Given the description of an element on the screen output the (x, y) to click on. 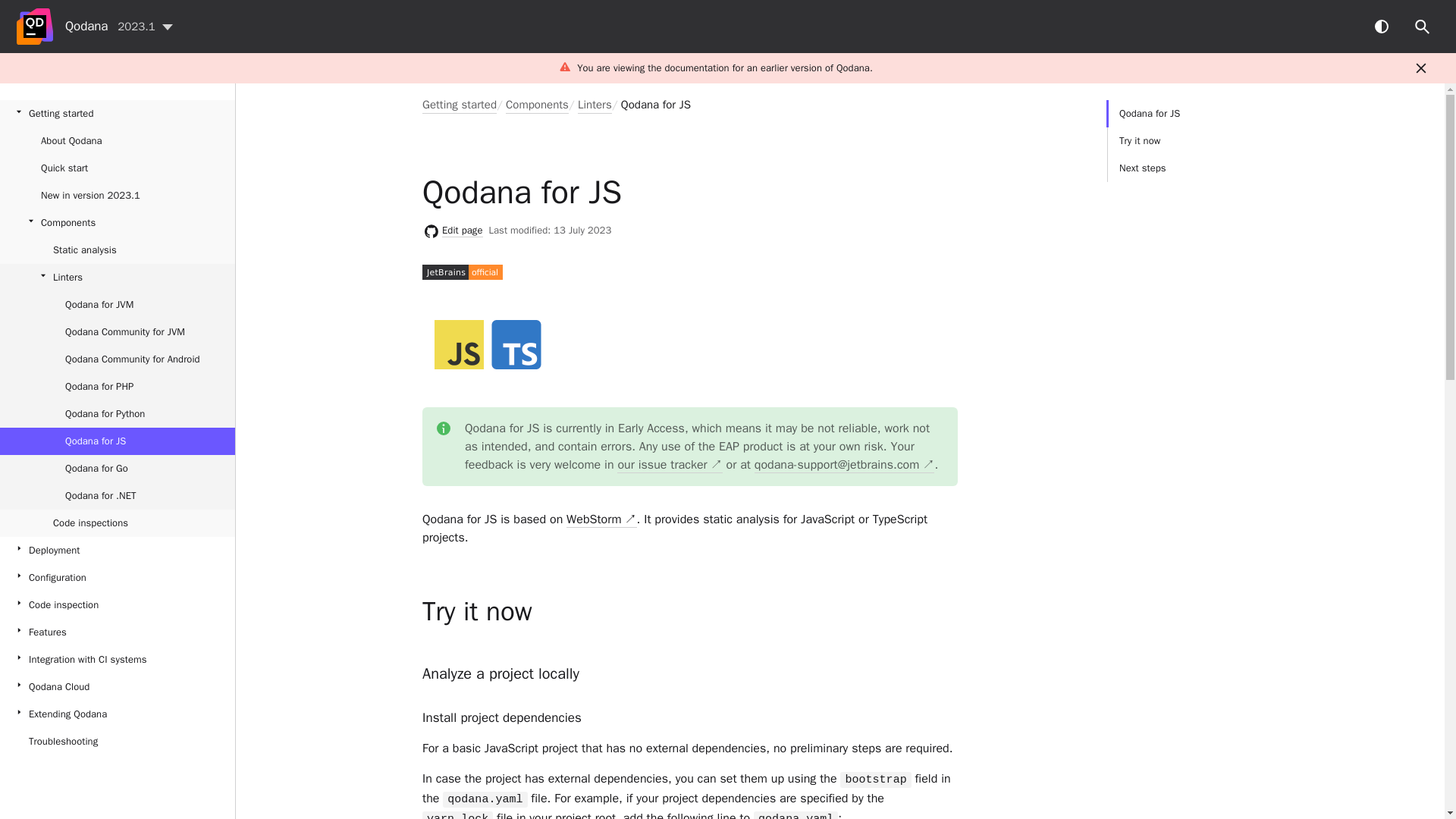
Qodana for JVM (117, 304)
Code inspection (117, 605)
official project (462, 272)
About Qodana (117, 140)
Getting started (117, 113)
Edit page (462, 230)
Linters (594, 104)
Qodana for PHP (117, 386)
our issue tracker (669, 465)
New in version 2023.1 (117, 195)
Components (117, 222)
Integration with CI systems (117, 659)
Qodana Community for Android (117, 359)
Close (1420, 68)
Features (117, 632)
